Given the description of an element on the screen output the (x, y) to click on. 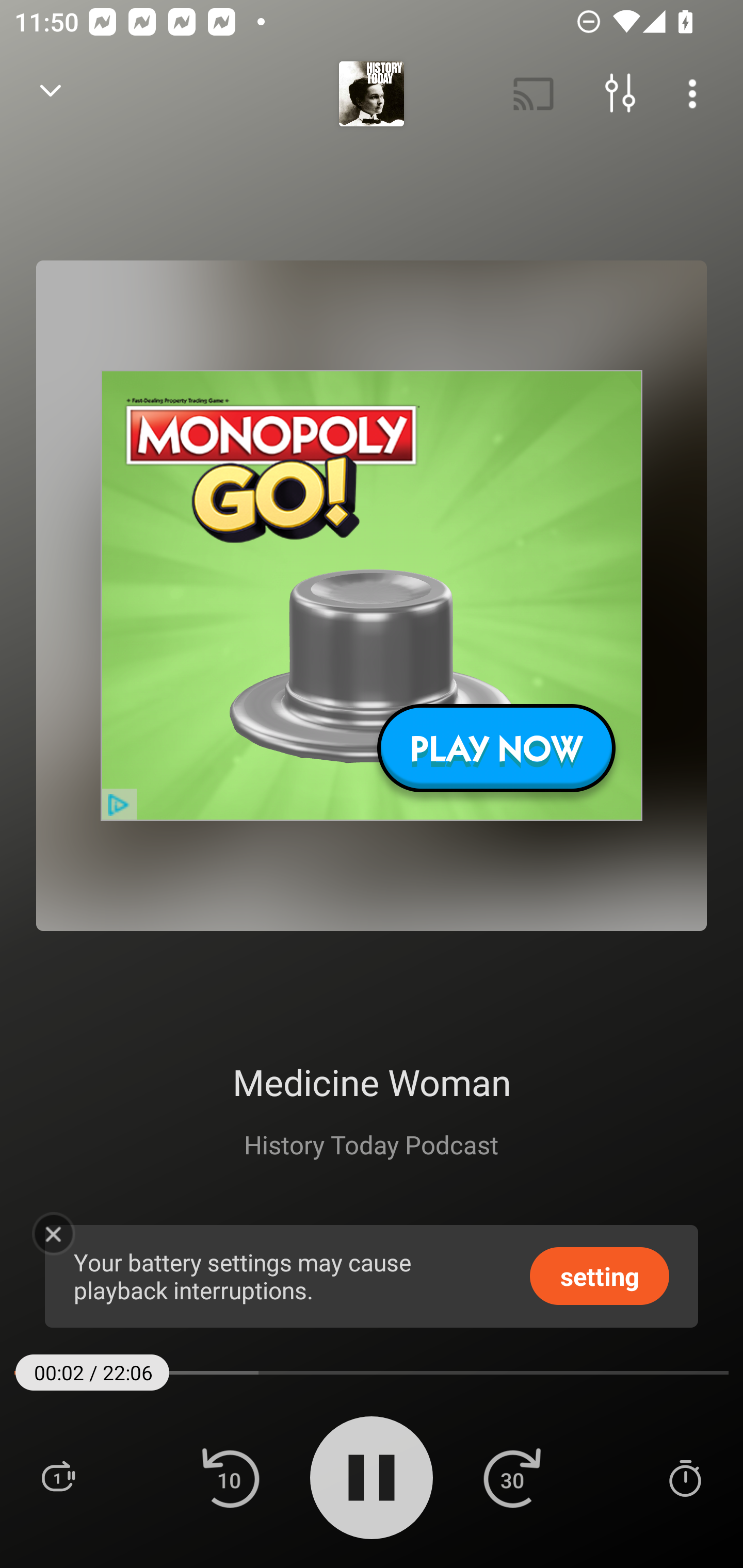
Cast. Disconnected (533, 93)
 Back (50, 94)
Medicine Woman (371, 1081)
History Today Podcast (371, 1144)
setting (599, 1275)
 Playlist (57, 1477)
Sleep Timer  (684, 1477)
